Given the description of an element on the screen output the (x, y) to click on. 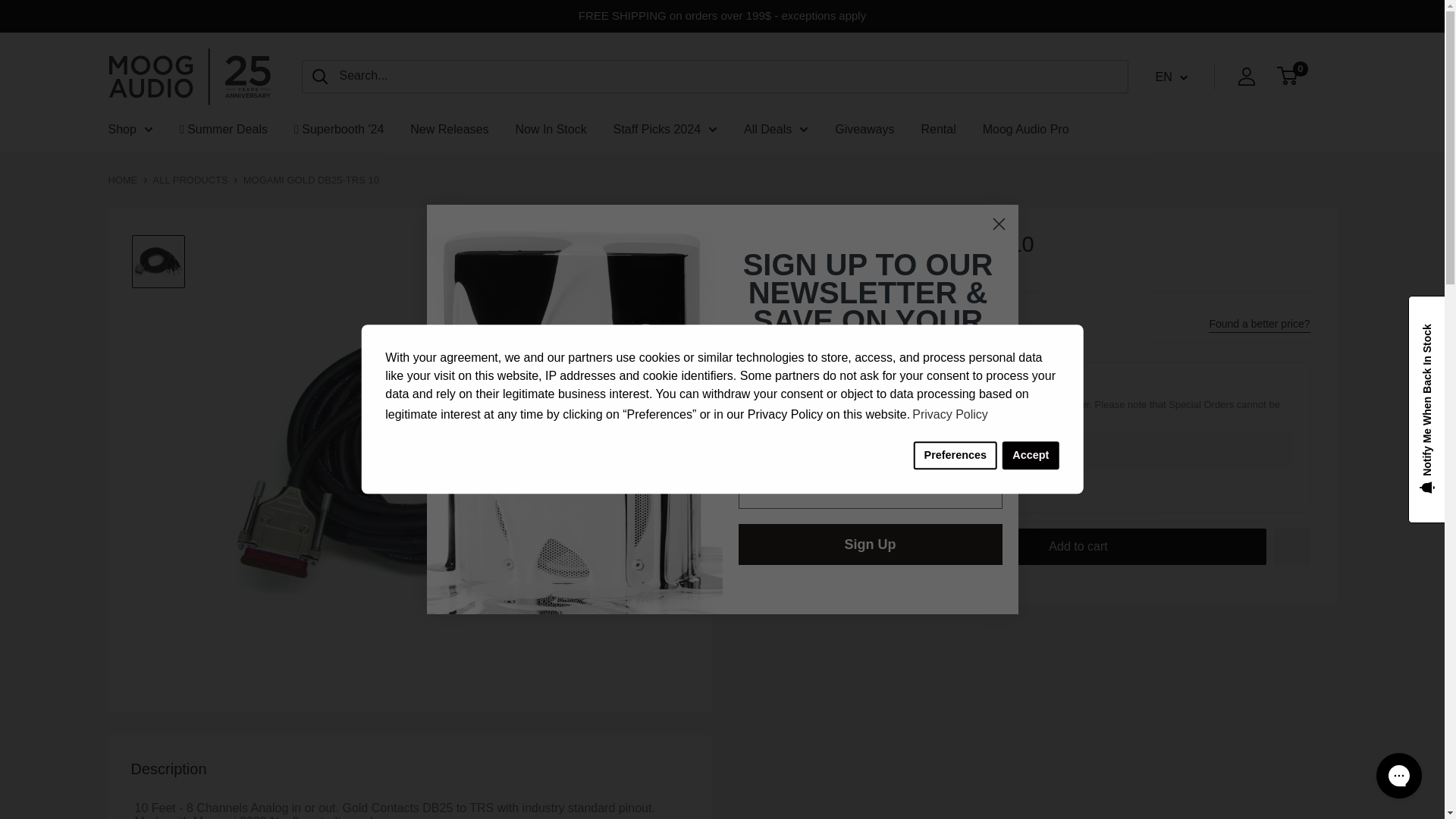
on (782, 491)
Gorgias live chat messenger (1398, 775)
1 (820, 546)
Decrease quantity by 1 (779, 546)
Increase quantity by 1 (861, 546)
